Given the description of an element on the screen output the (x, y) to click on. 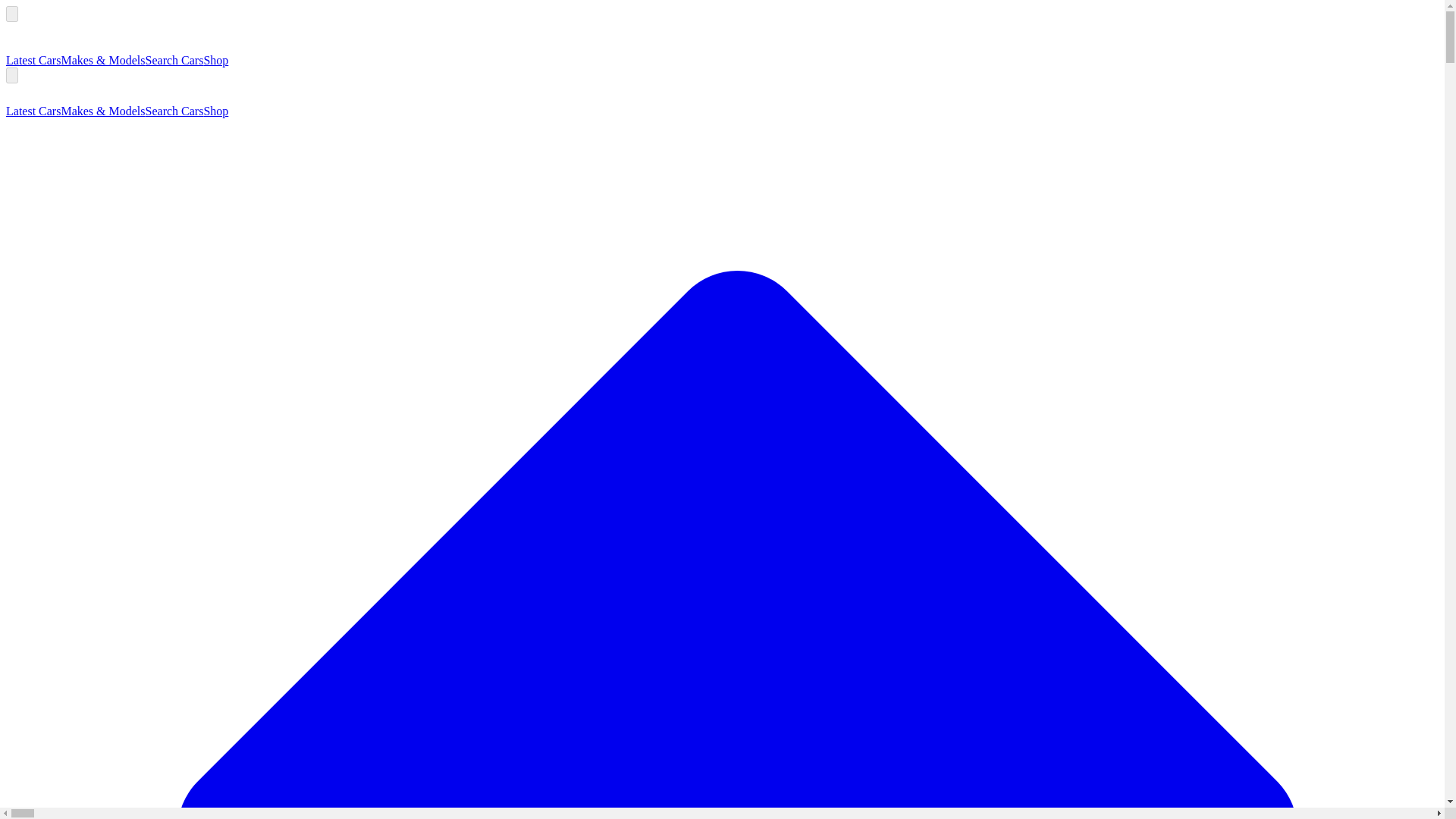
Latest Cars (33, 110)
Shop (215, 110)
Search Cars (174, 60)
Shop (215, 60)
Latest Cars (33, 60)
Search Cars (174, 110)
